Given the description of an element on the screen output the (x, y) to click on. 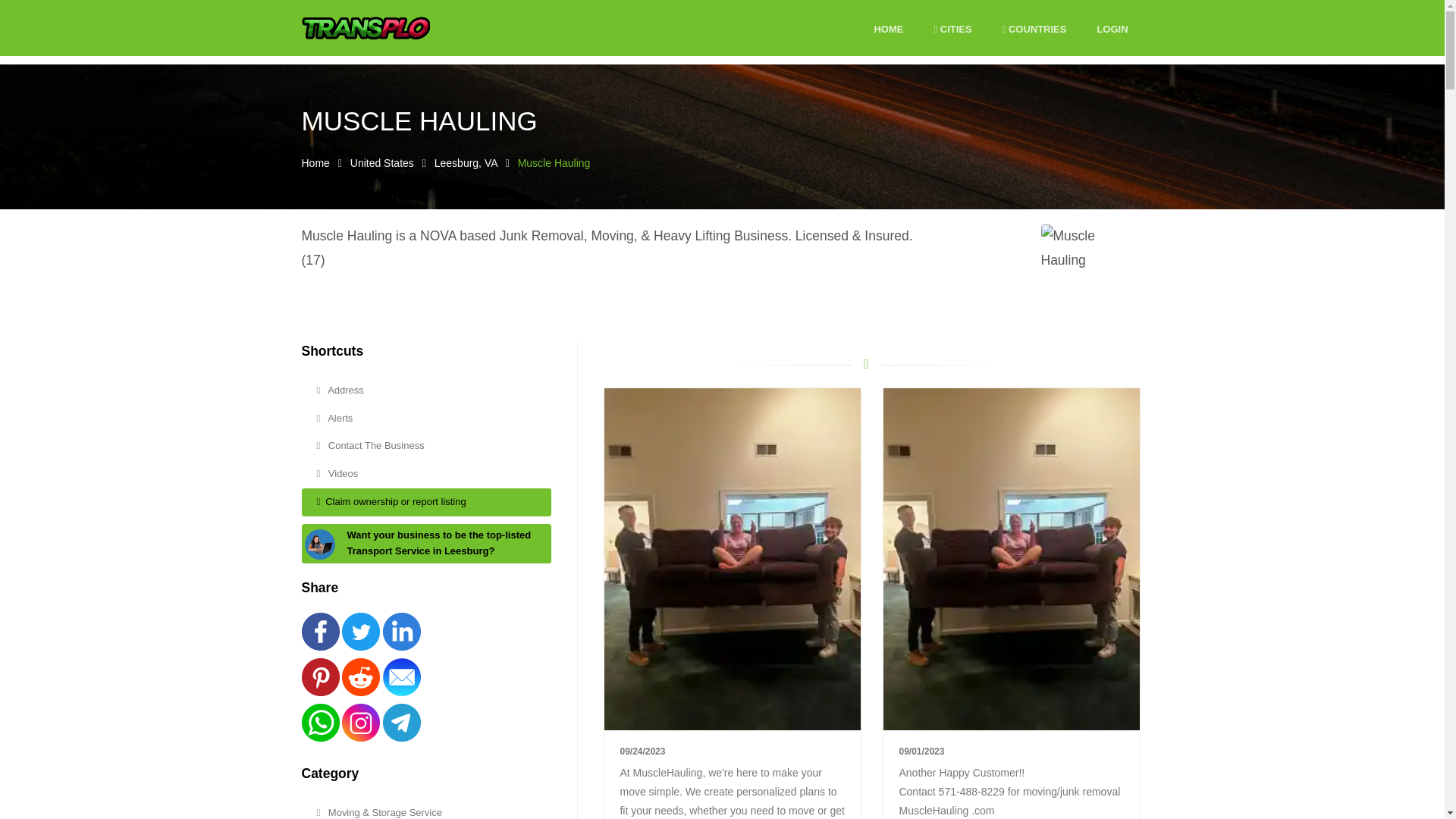
Contact The Business (426, 446)
United States (381, 162)
Address (426, 390)
HOME (887, 29)
Leesburg, VA (465, 162)
Home (315, 162)
Videos (426, 474)
Alerts (426, 418)
Claim ownership or report listing (426, 502)
